Given the description of an element on the screen output the (x, y) to click on. 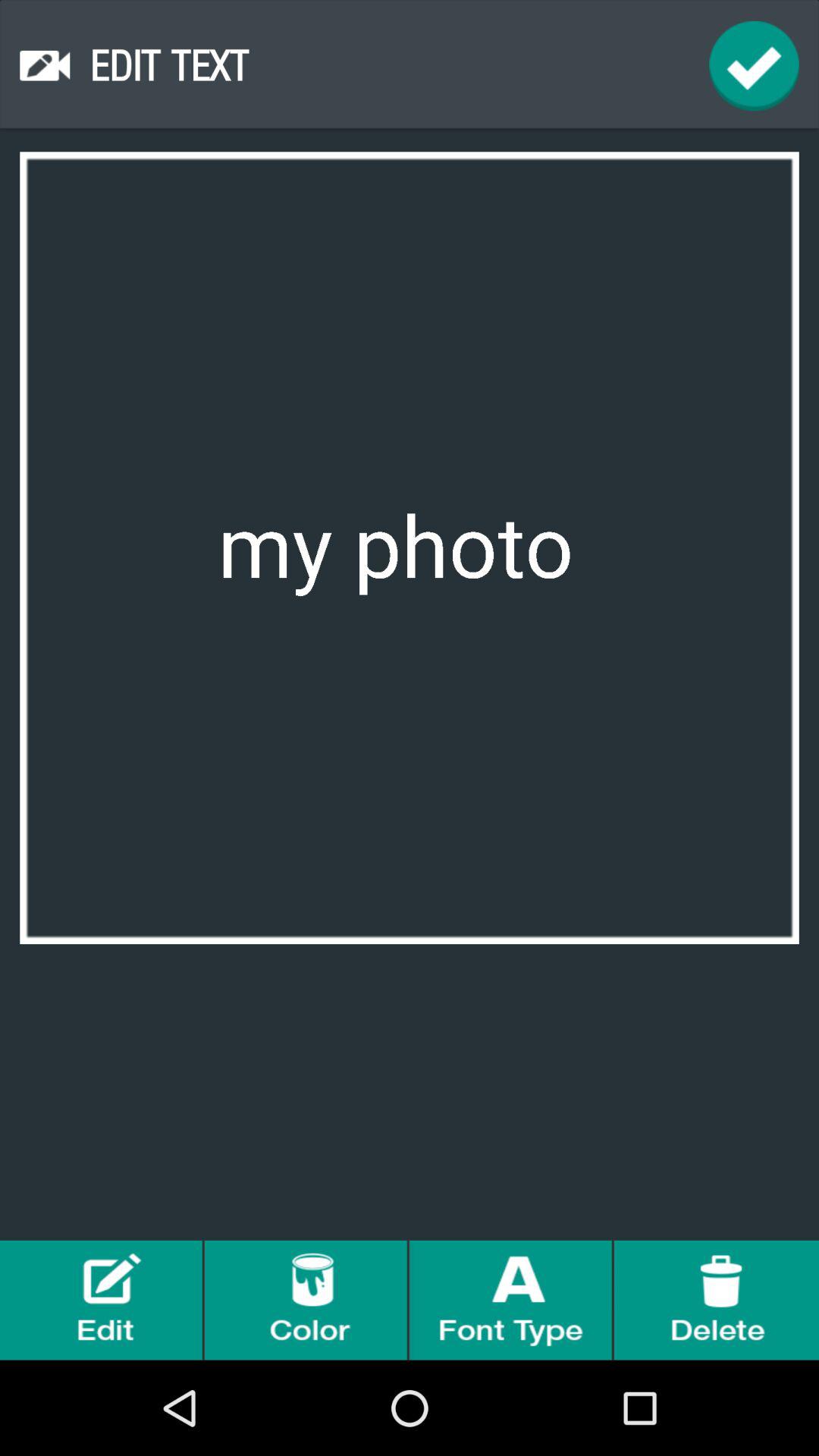
edit (102, 1299)
